Given the description of an element on the screen output the (x, y) to click on. 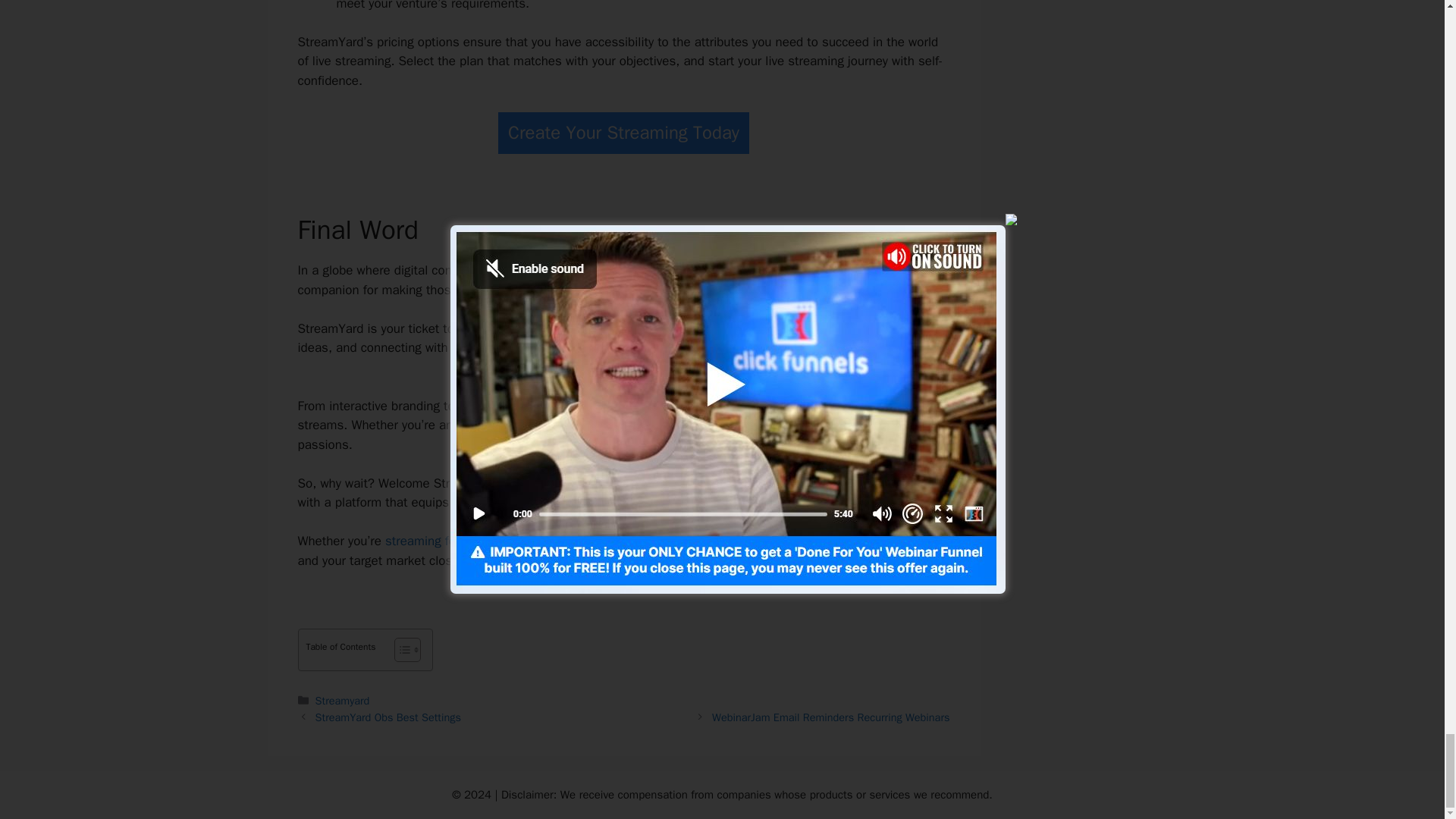
Create Your Streaming Today (623, 132)
WebinarJam Email Reminders Recurring Webinars (830, 716)
live streaming experience (676, 483)
StreamYard Obs Best Settings (388, 716)
Streamyard (342, 700)
streaming for fun (433, 540)
